Given the description of an element on the screen output the (x, y) to click on. 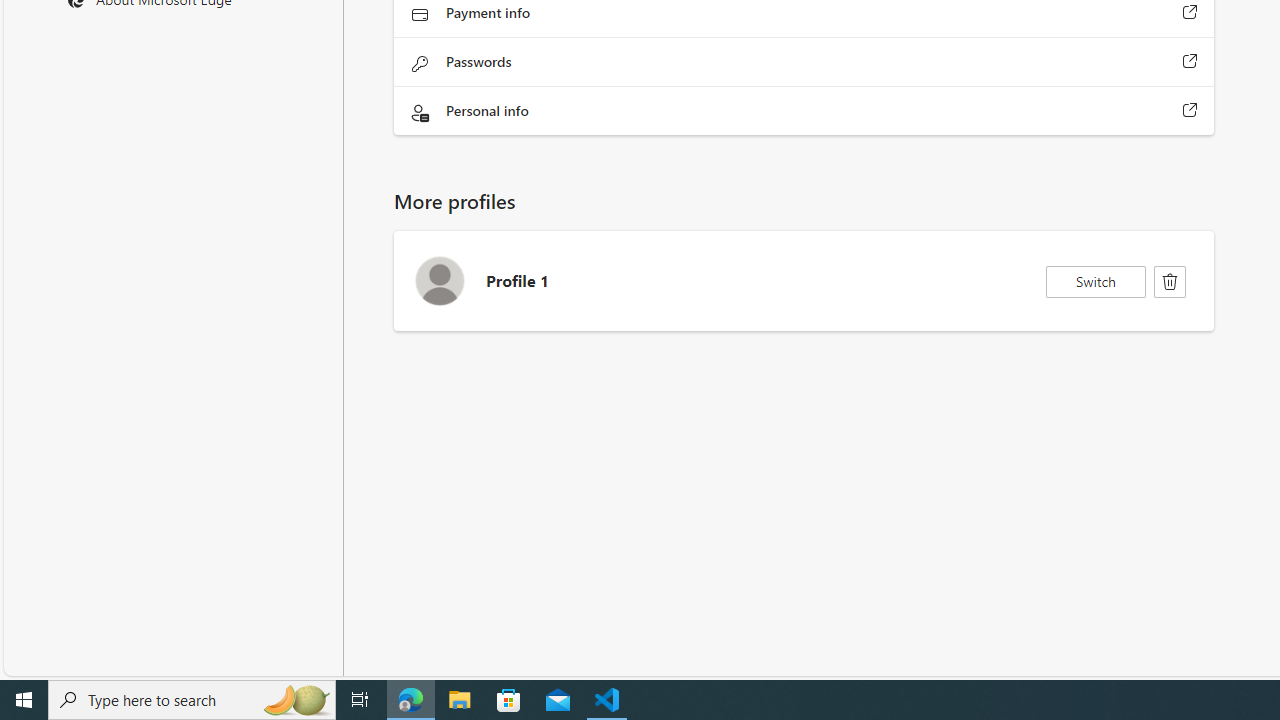
Personal info (1190, 110)
Passwords (1190, 61)
Switch (1095, 281)
Delete (1170, 281)
Class: c011143 (1170, 282)
Profile 1 (803, 281)
Profile 1 Avatar icon (439, 280)
